Given the description of an element on the screen output the (x, y) to click on. 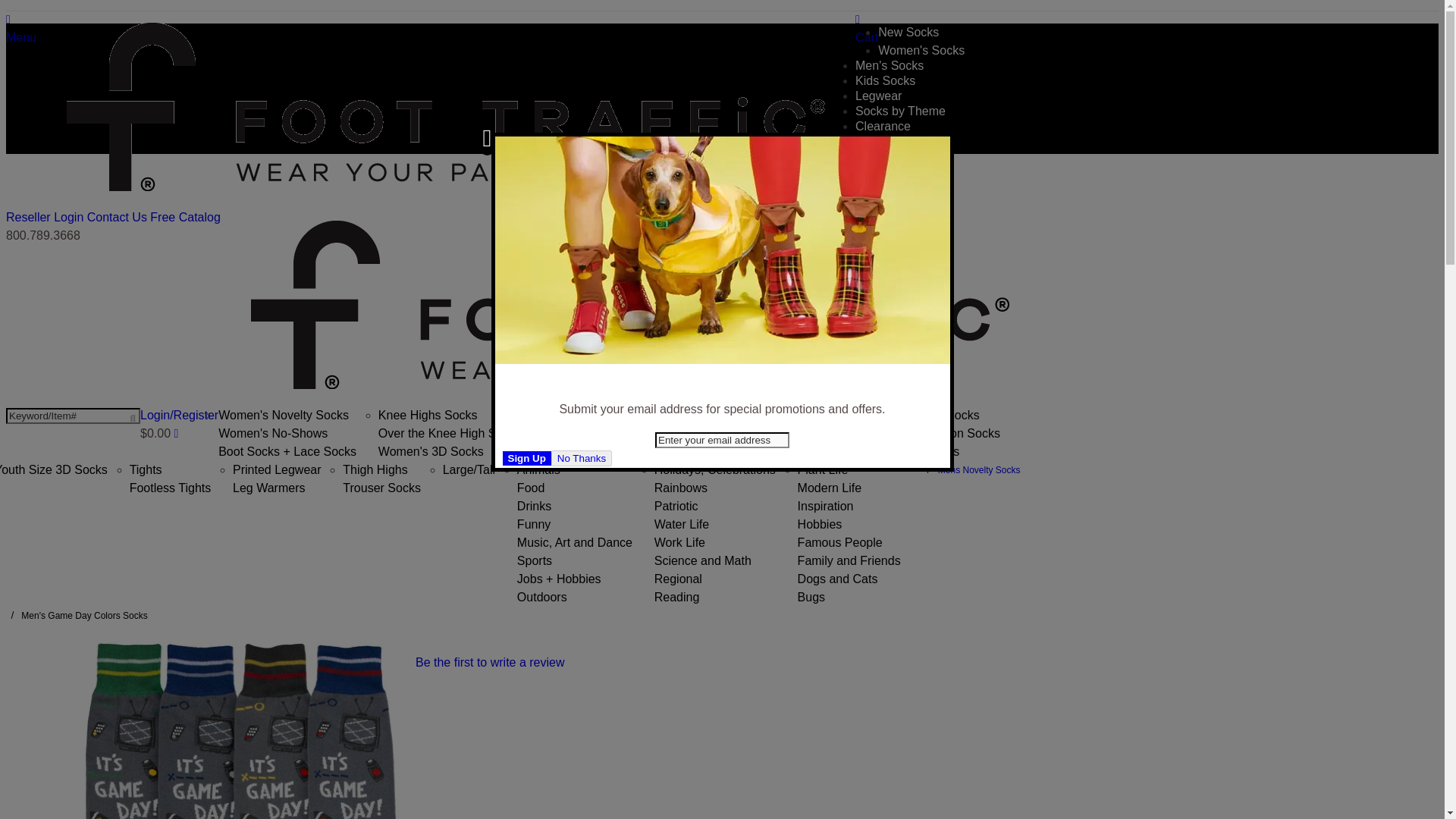
Sign Up (526, 458)
No Thanks (581, 458)
